Given the description of an element on the screen output the (x, y) to click on. 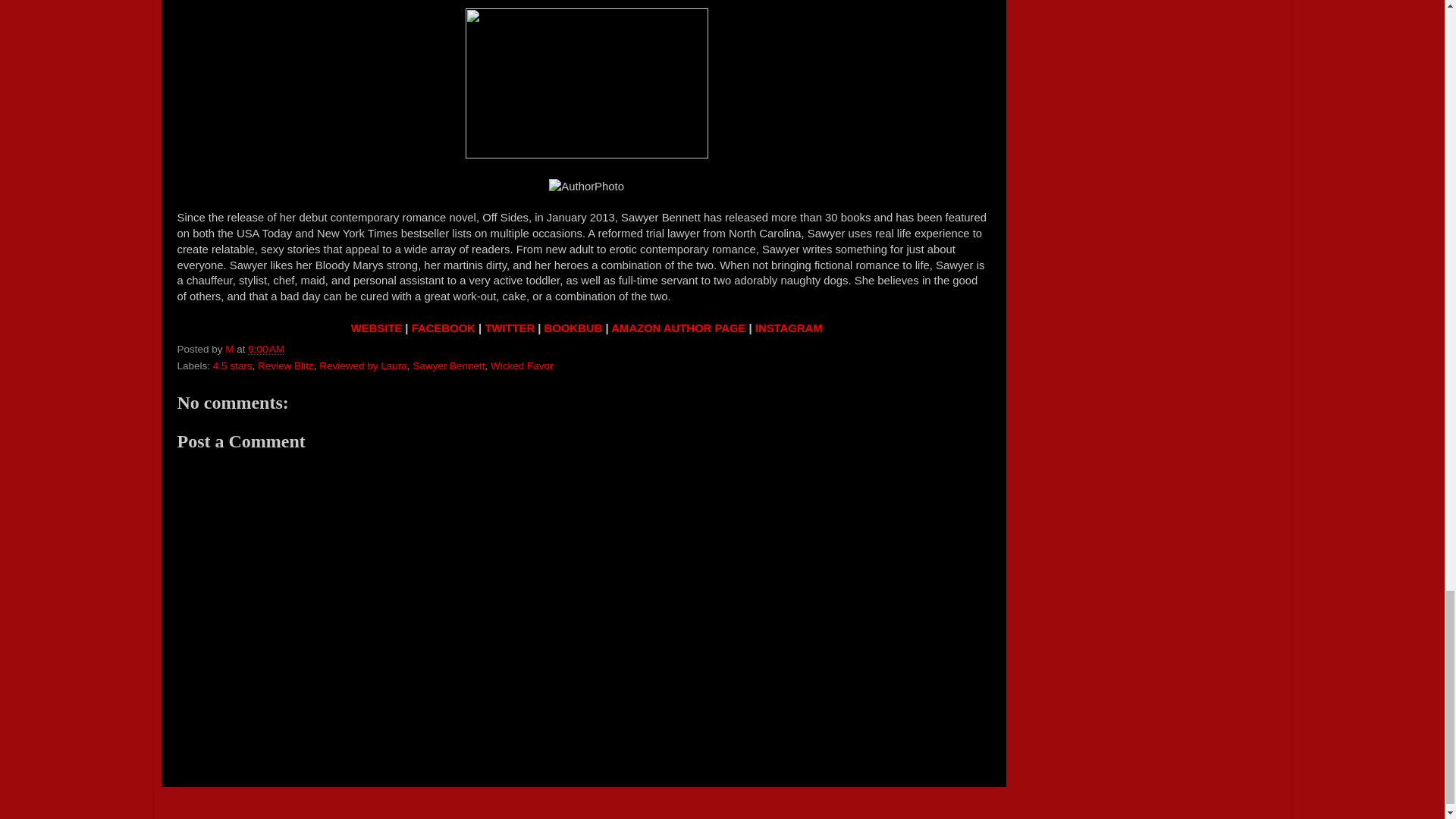
BOOKBUB (573, 328)
Sawyer Bennett (448, 365)
M (230, 348)
permanent link (265, 348)
TWITTER (509, 328)
WEBSITE (376, 328)
author profile (230, 348)
AMAZON AUTHOR PAGE (678, 328)
4.5 stars (231, 365)
Review Blitz (285, 365)
INSTAGRAM (788, 328)
FACEBOOK (444, 328)
Wicked Favor (521, 365)
Reviewed by Laura (362, 365)
